Given the description of an element on the screen output the (x, y) to click on. 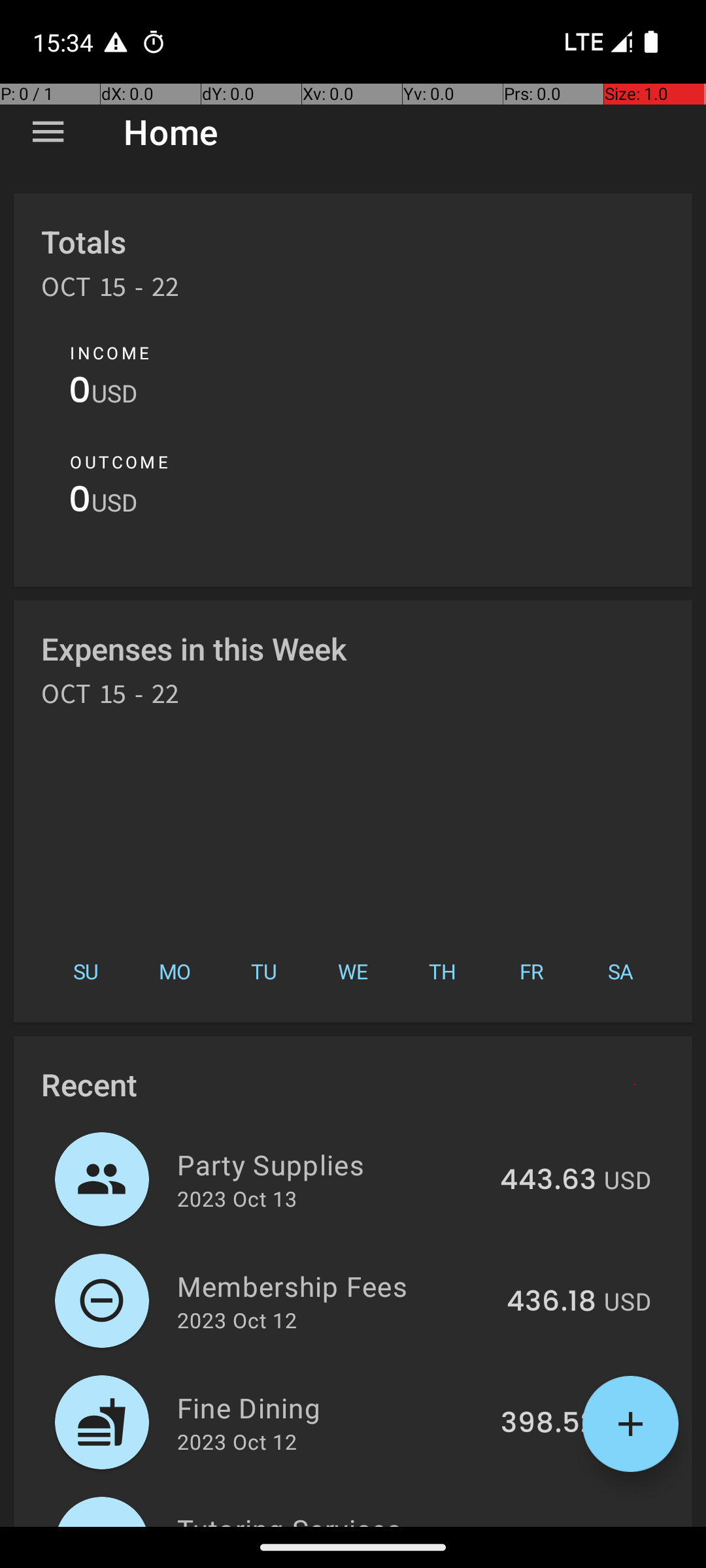
Party Supplies Element type: android.widget.TextView (330, 1164)
443.63 Element type: android.widget.TextView (547, 1180)
Membership Fees Element type: android.widget.TextView (334, 1285)
2023 Oct 12 Element type: android.widget.TextView (236, 1320)
436.18 Element type: android.widget.TextView (550, 1301)
Fine Dining Element type: android.widget.TextView (331, 1407)
398.52 Element type: android.widget.TextView (548, 1423)
Tutoring Services Element type: android.widget.TextView (334, 1518)
104.25 Element type: android.widget.TextView (551, 1524)
